Given the description of an element on the screen output the (x, y) to click on. 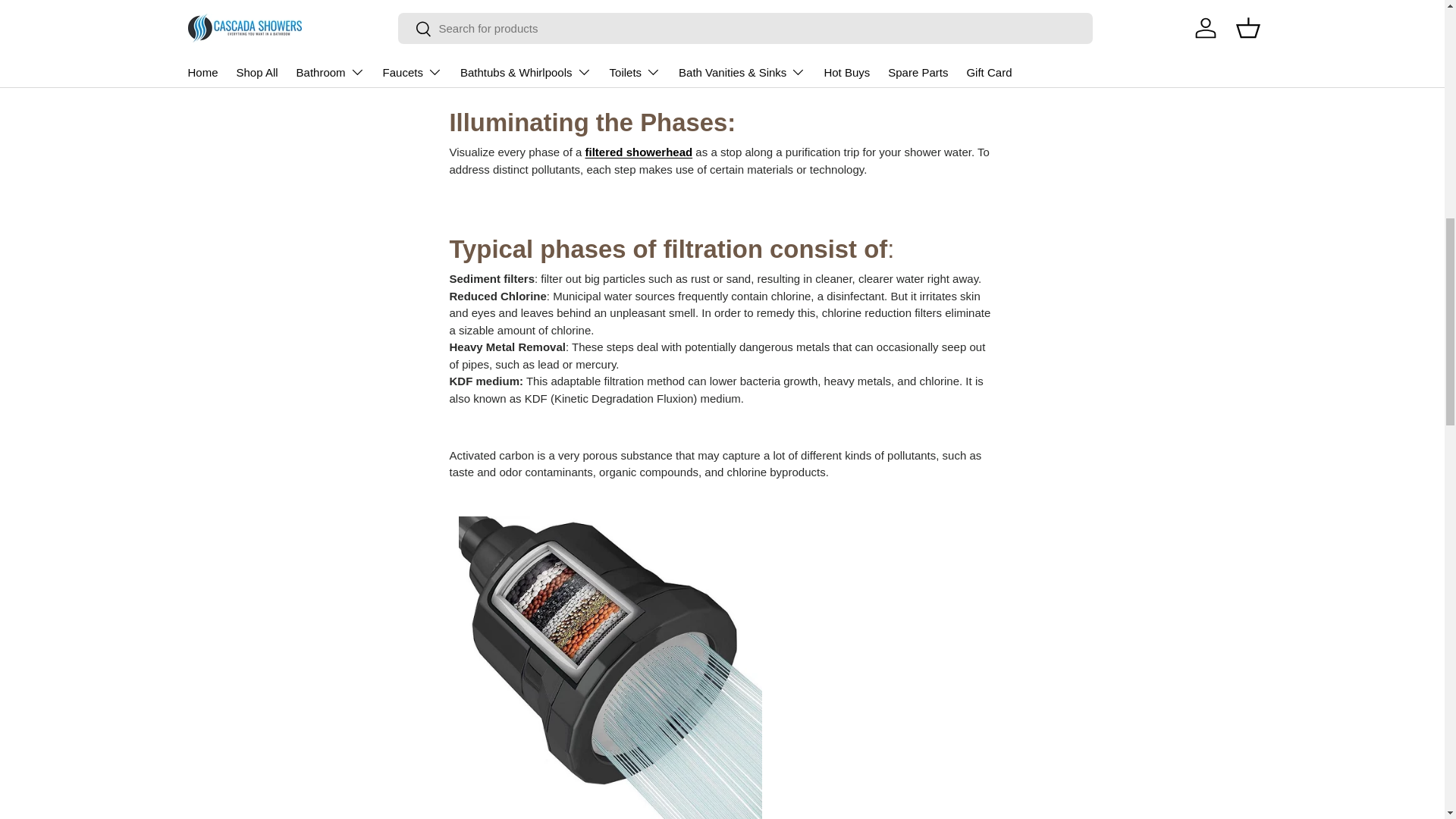
Cascada 20 stage filtered rainfall shower head (639, 151)
20 stage shower filter (793, 24)
